Given the description of an element on the screen output the (x, y) to click on. 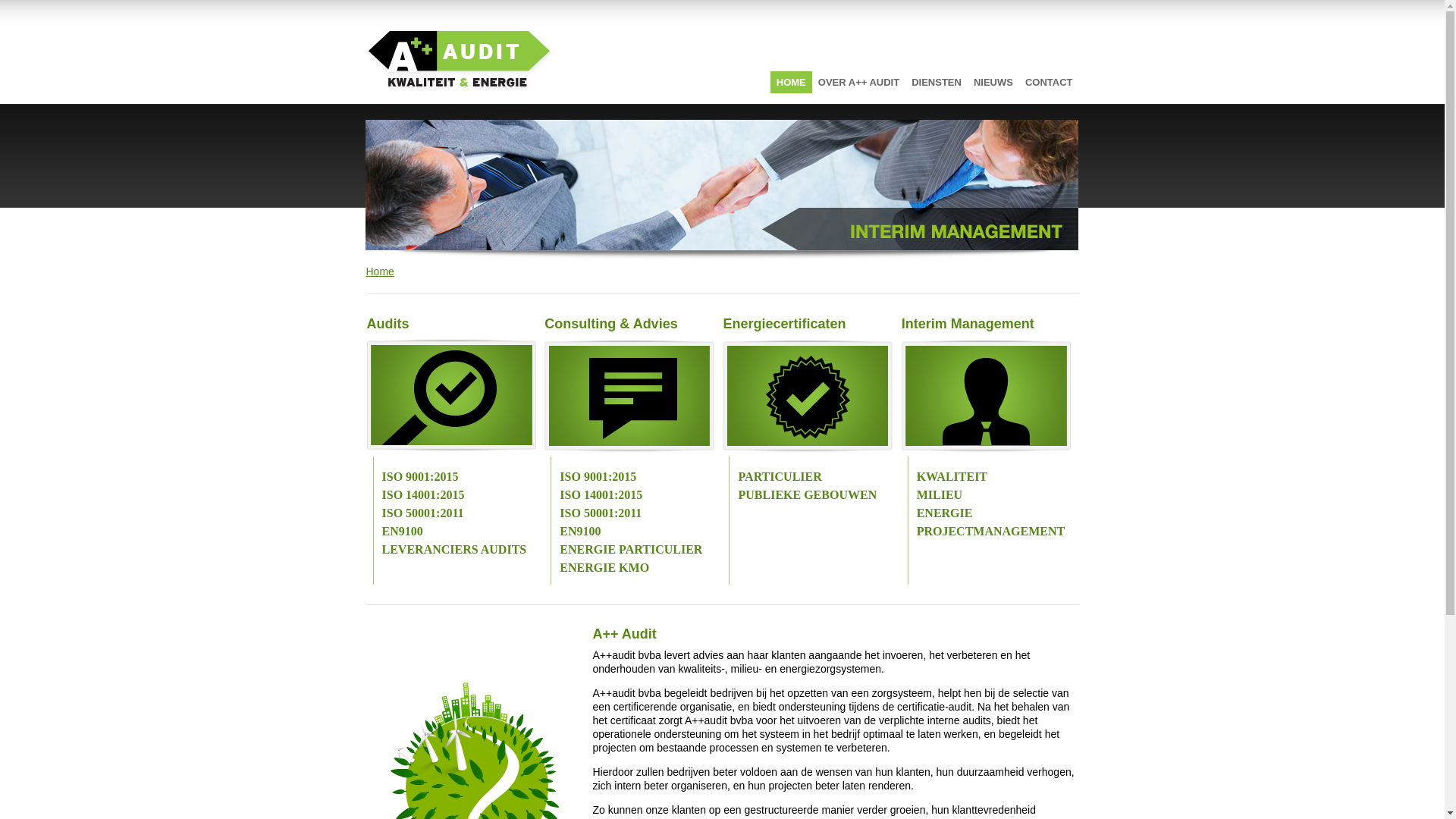
ISO 50001:2011 Element type: text (423, 512)
CONTACT Element type: text (1049, 82)
LEVERANCIERS AUDITS Element type: text (454, 548)
ISO 14001:2015 Element type: text (423, 494)
PUBLIEKE GEBOUWEN Element type: text (806, 494)
PROJECTMANAGEMENT Element type: text (990, 530)
EN9100 Element type: text (579, 530)
ENERGIE KMO Element type: text (604, 567)
ISO 9001:2015 Element type: text (420, 476)
ISO 50001:2011 Element type: text (600, 512)
ENERGIE PARTICULIER Element type: text (630, 548)
HOME Element type: text (791, 82)
KWALITEIT Element type: text (951, 476)
OVER A++ AUDIT Element type: text (858, 82)
ISO 9001:2015 Element type: text (597, 476)
DIENSTEN Element type: text (936, 82)
ENERGIE Element type: text (944, 512)
NIEUWS Element type: text (993, 82)
EN9100 Element type: text (402, 530)
PARTICULIER Element type: text (779, 476)
Home Element type: text (379, 271)
ISO 14001:2015 Element type: text (600, 494)
MILIEU Element type: text (939, 494)
